Given the description of an element on the screen output the (x, y) to click on. 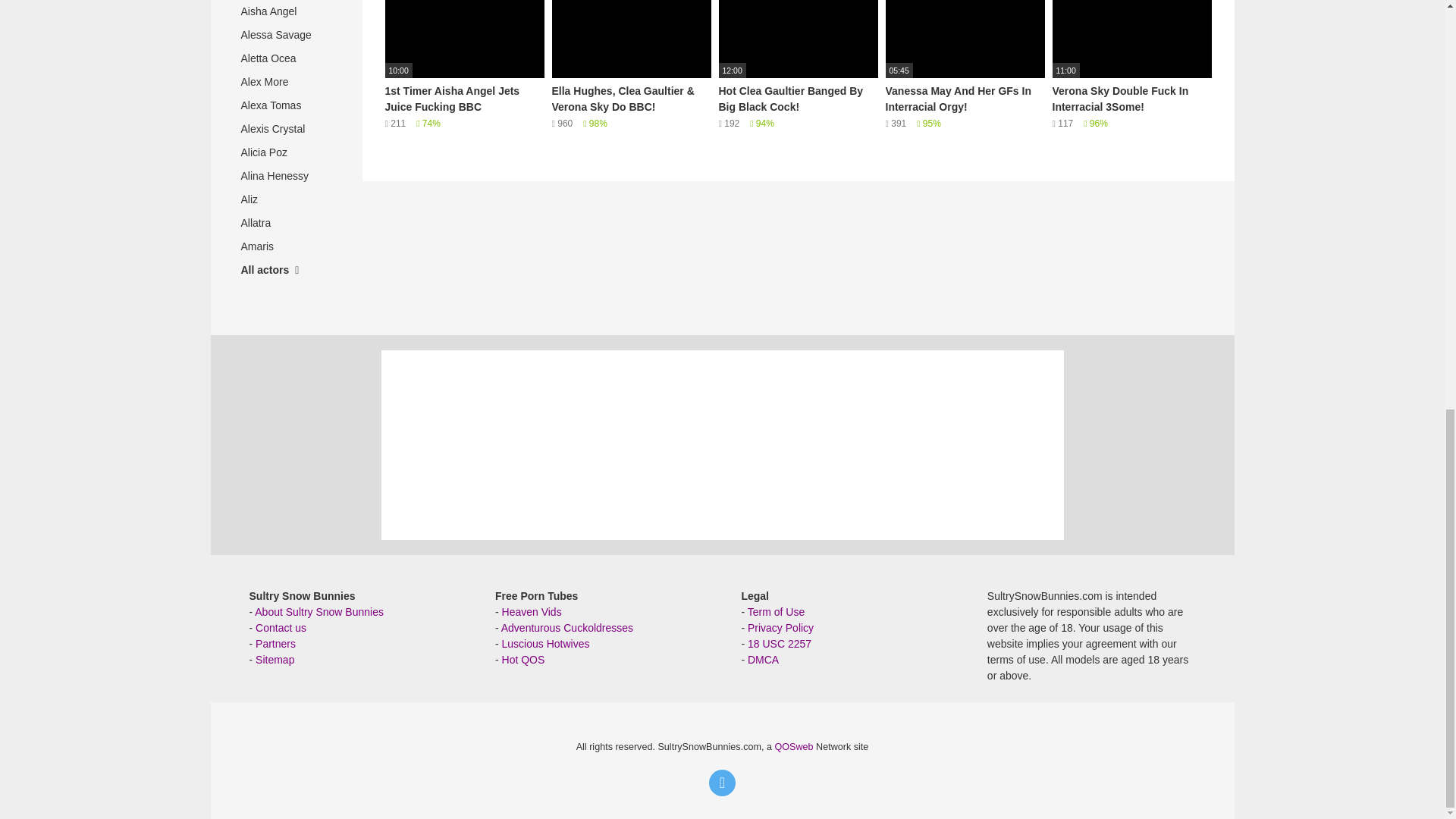
Aisha Angel (285, 11)
Alex More (285, 82)
Aletta Ocea (285, 58)
Alessa Savage (285, 34)
All actors (285, 269)
